Given the description of an element on the screen output the (x, y) to click on. 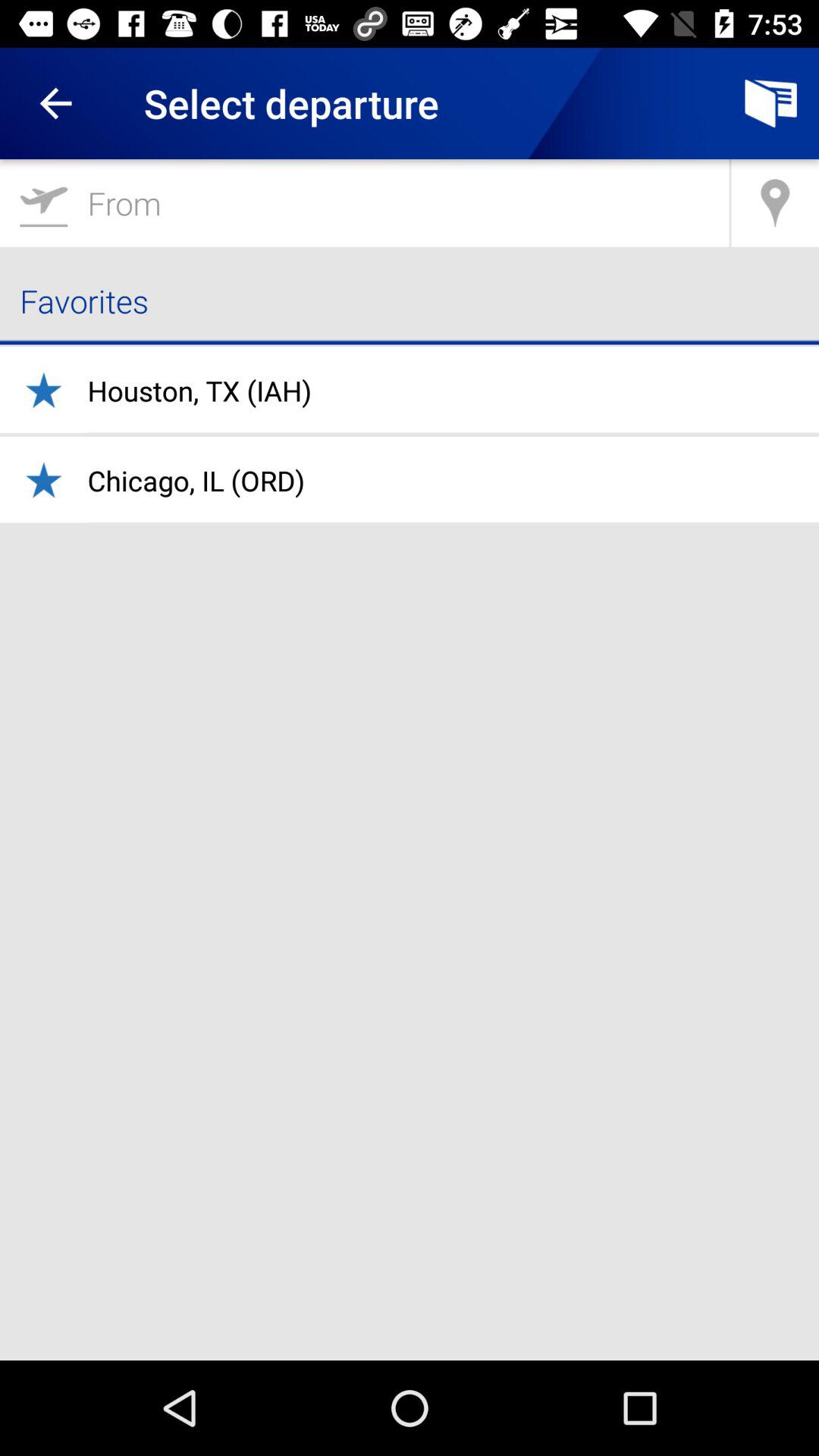
enter departure airport (364, 202)
